Given the description of an element on the screen output the (x, y) to click on. 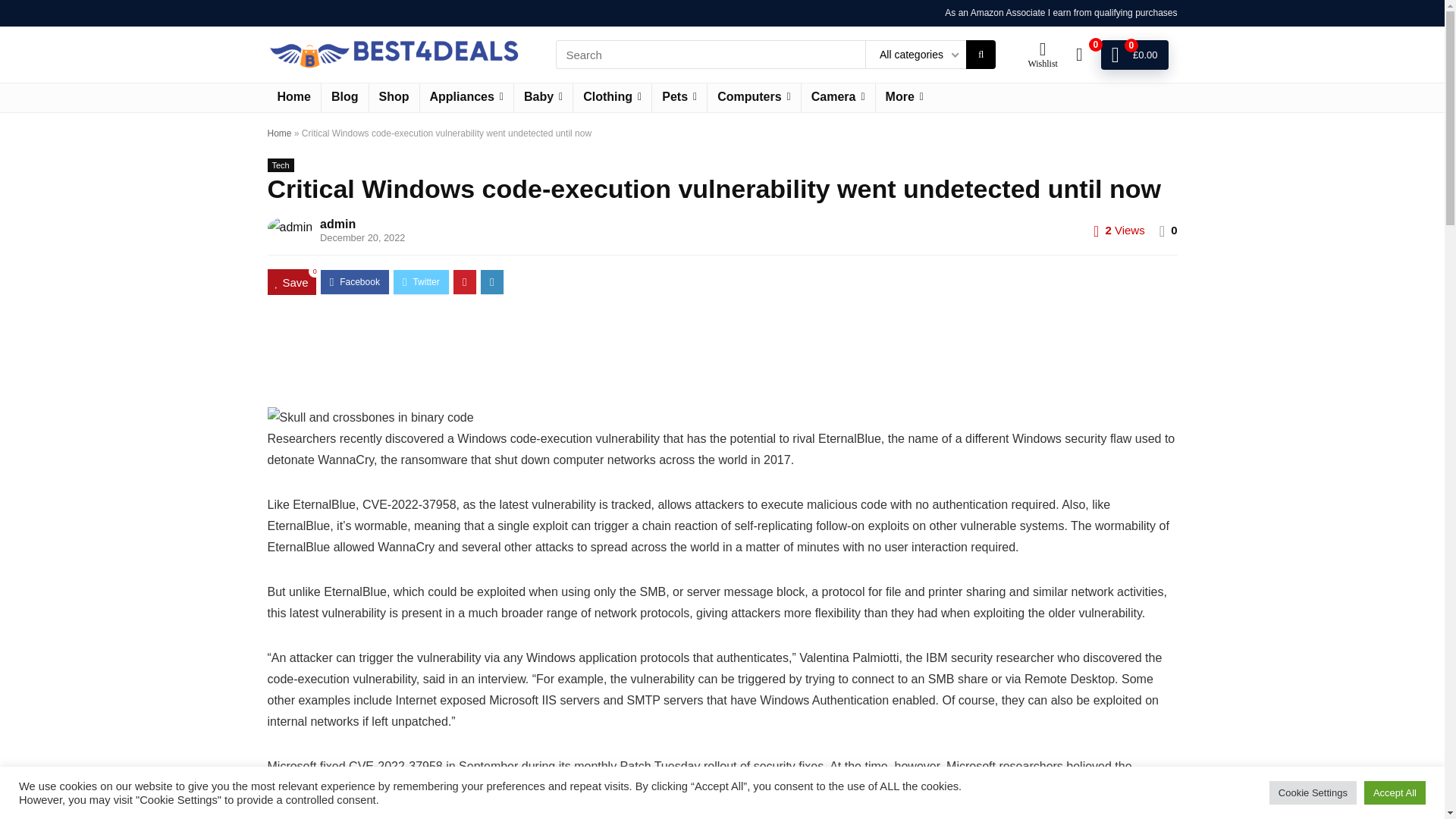
Pets (679, 97)
Clothing (611, 97)
Computers (753, 97)
Appliances (466, 97)
View all posts in Tech (280, 164)
Blog (344, 97)
Baby (542, 97)
Home (293, 97)
Camera (838, 97)
Shop (393, 97)
